Given the description of an element on the screen output the (x, y) to click on. 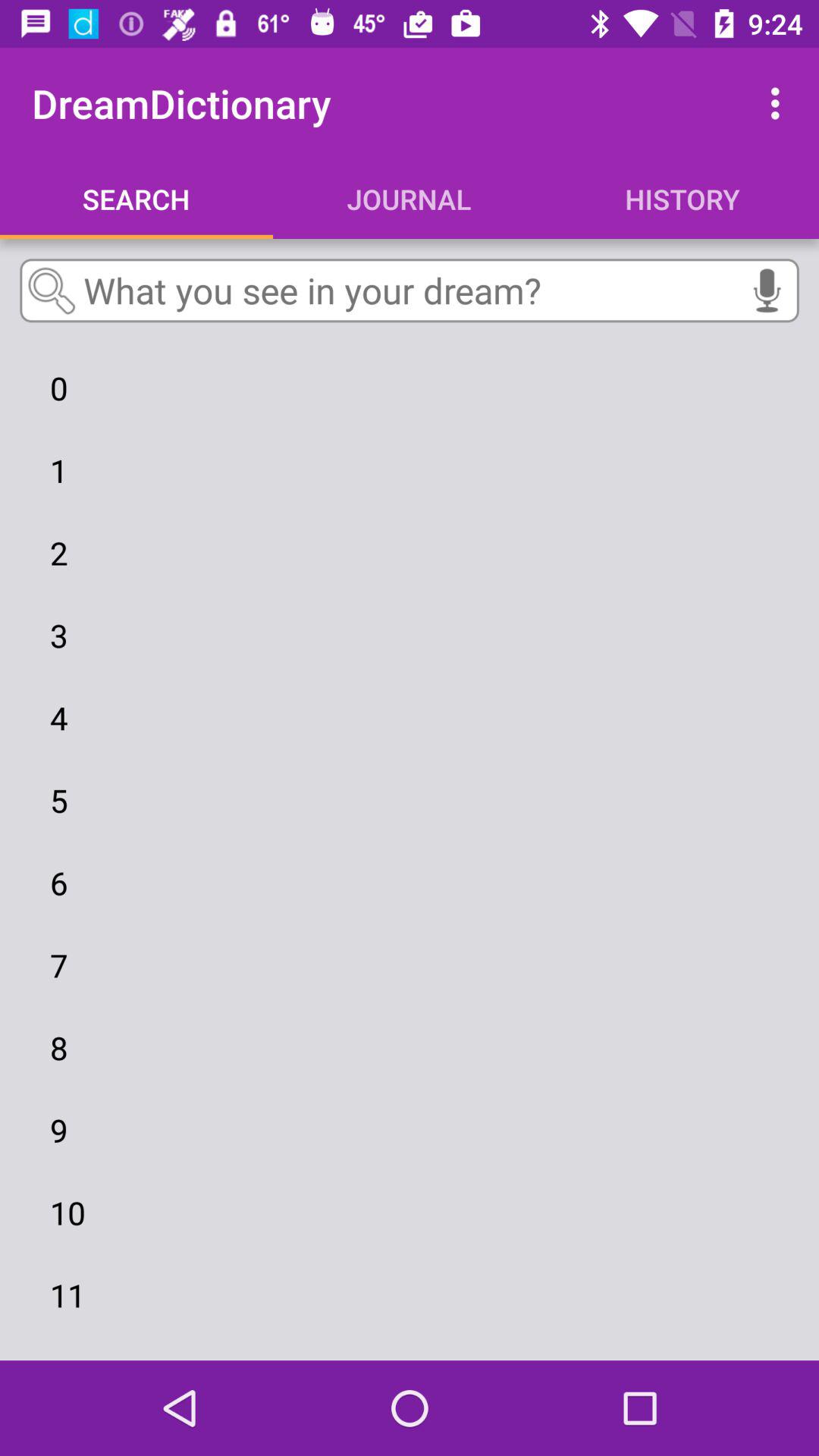
choose the item above history (779, 103)
